Given the description of an element on the screen output the (x, y) to click on. 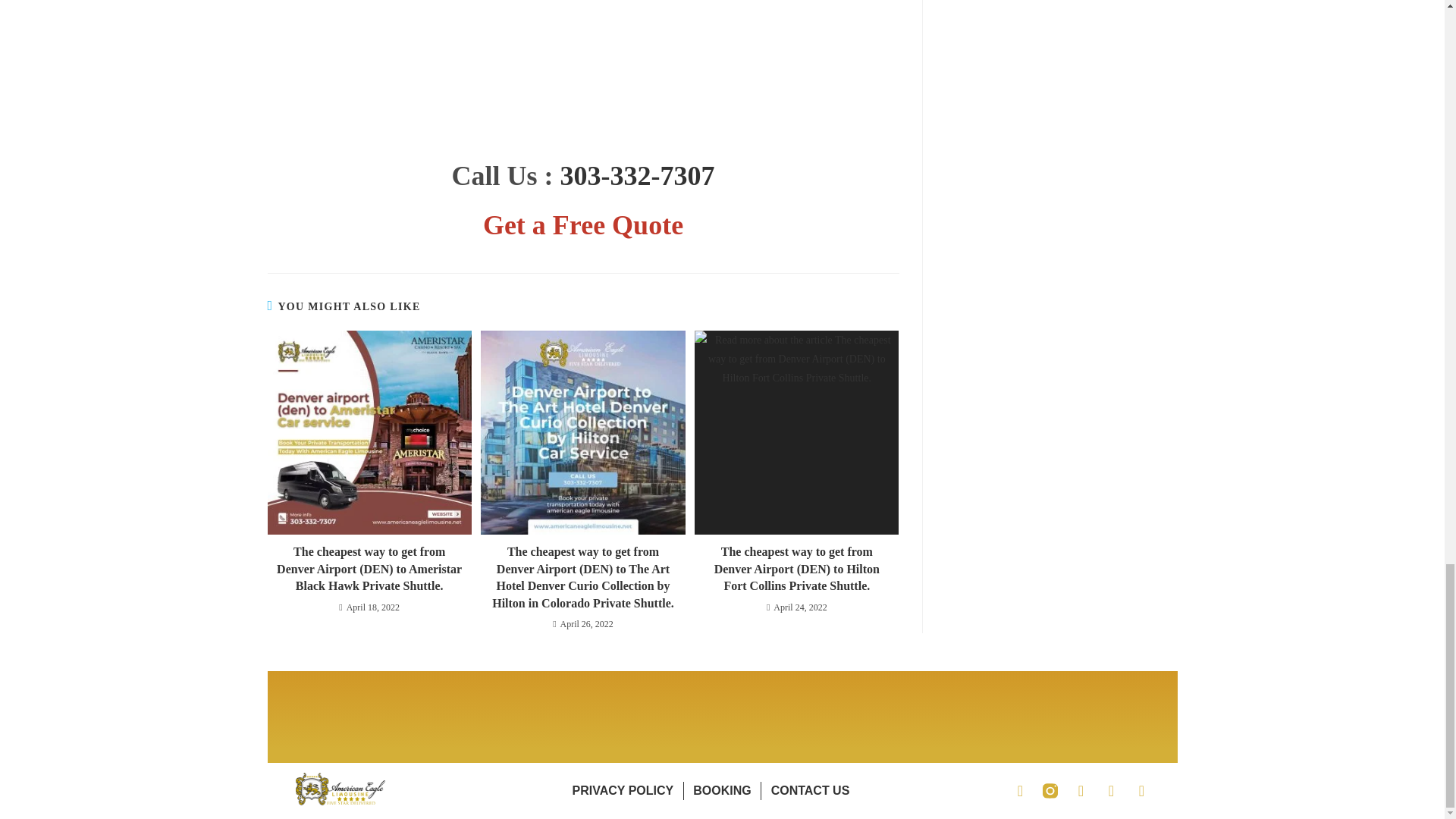
PRIVACY POLICY (623, 791)
Get a Free Quote (582, 224)
CONTACT US (810, 791)
BOOKING (722, 791)
303-332-7307 (636, 175)
